Given the description of an element on the screen output the (x, y) to click on. 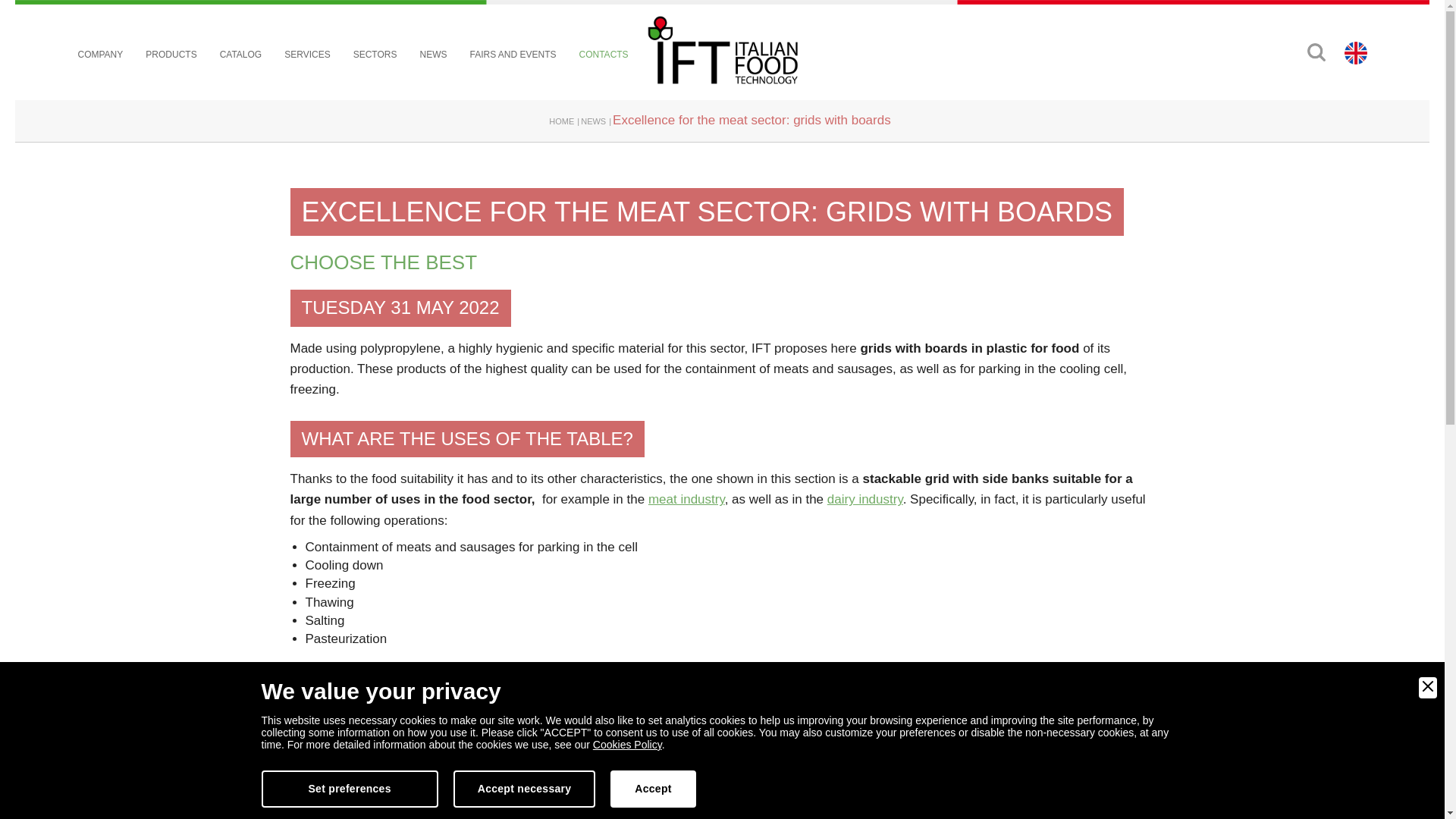
SECTORS (375, 54)
home page (721, 50)
COMPANY (100, 54)
SERVICES (306, 54)
CONTACTS (603, 54)
NEWS (432, 54)
CATALOG (240, 54)
PRODUCTS (170, 54)
FAIRS AND EVENTS (512, 54)
